Given the description of an element on the screen output the (x, y) to click on. 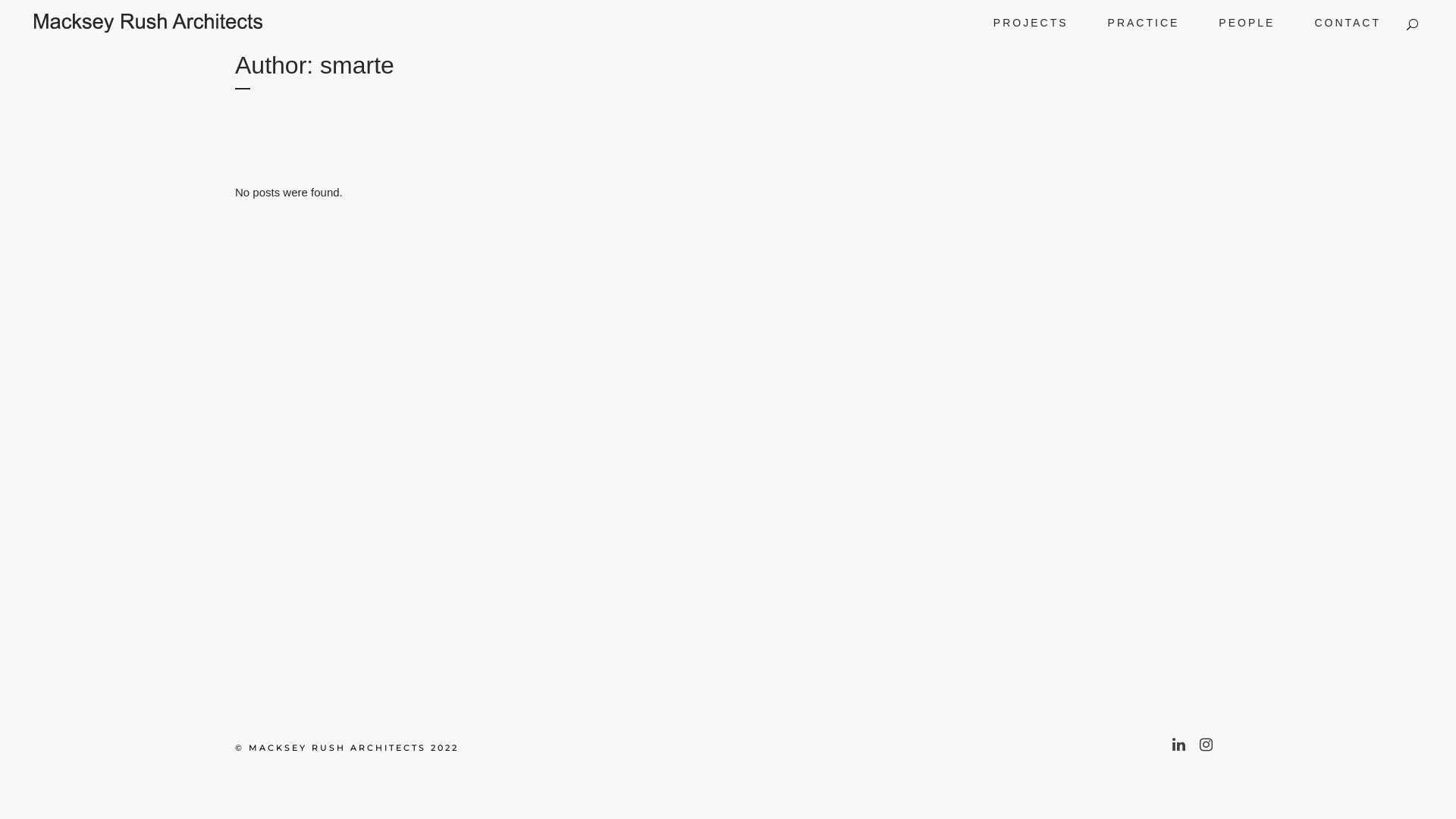
PRACTICE Element type: text (1143, 22)
PEOPLE Element type: text (1246, 22)
CONTACT Element type: text (1347, 22)
PROJECTS Element type: text (1030, 22)
